Given the description of an element on the screen output the (x, y) to click on. 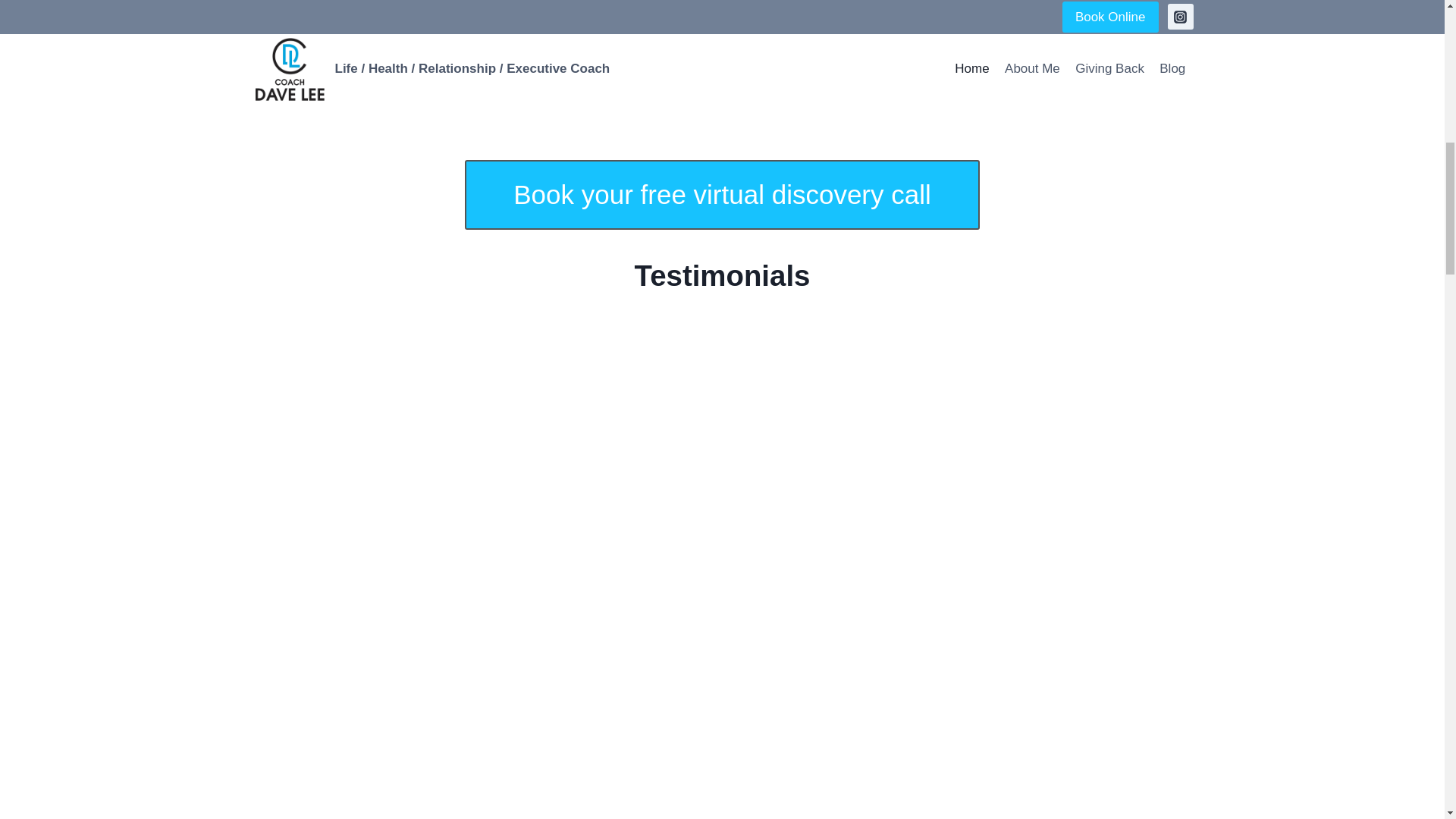
Why Coaching? (721, 54)
Jenny testimony (998, 754)
Maya testimony (445, 754)
Ami testimony (721, 548)
Brian testimonial (445, 548)
Mike testimony (998, 382)
Jay Lee testimony (721, 382)
Book your free virtual discovery call (721, 194)
Alan testimony (998, 571)
Aaron testimony (721, 754)
Dianne Aguilar testimony (445, 382)
